Given the description of an element on the screen output the (x, y) to click on. 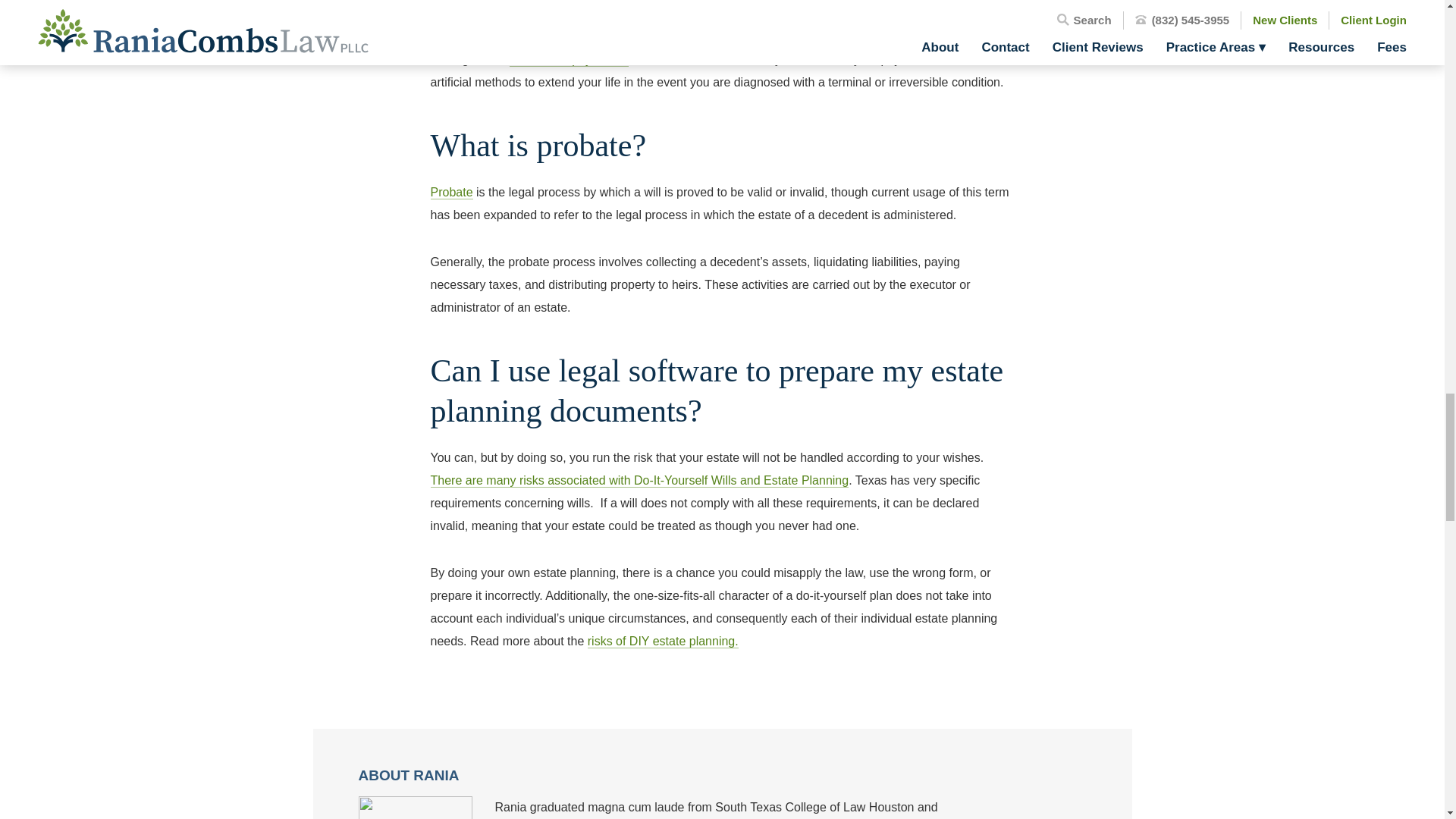
risks of DIY estate planning. (663, 641)
directive to physicians (568, 59)
Probate (451, 192)
